Given the description of an element on the screen output the (x, y) to click on. 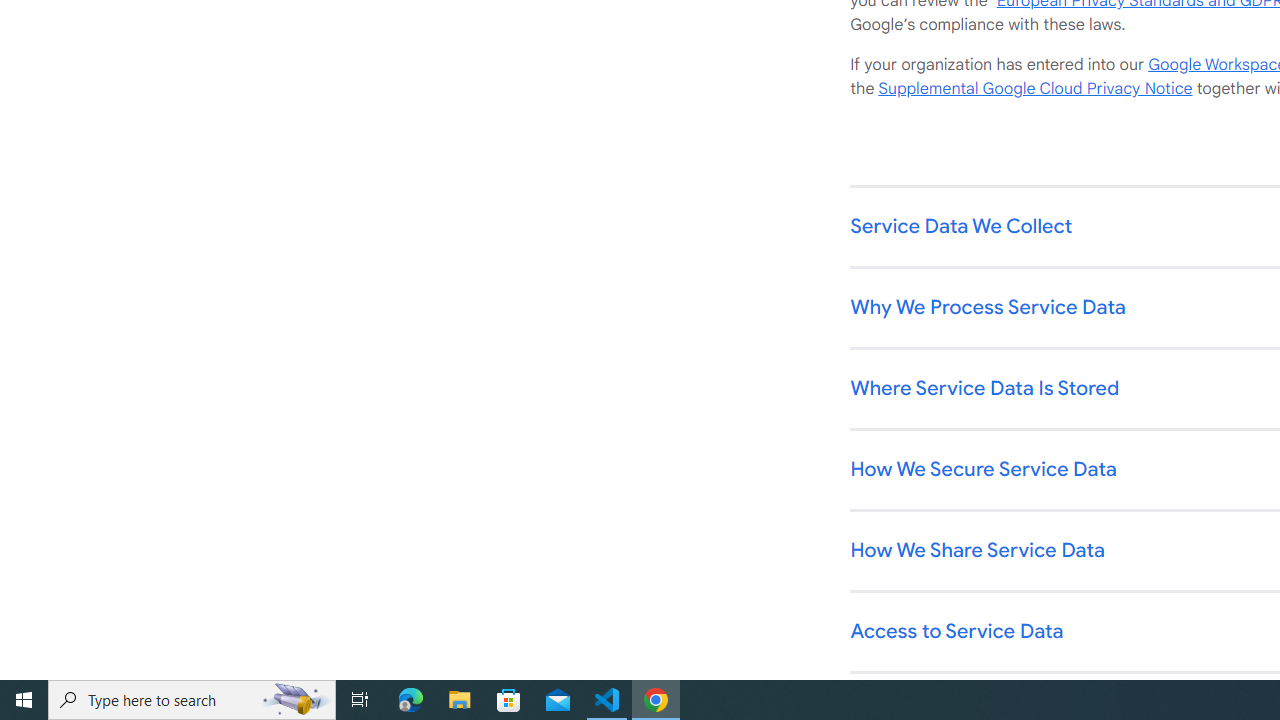
Supplemental Google Cloud Privacy Notice (1035, 89)
